Given the description of an element on the screen output the (x, y) to click on. 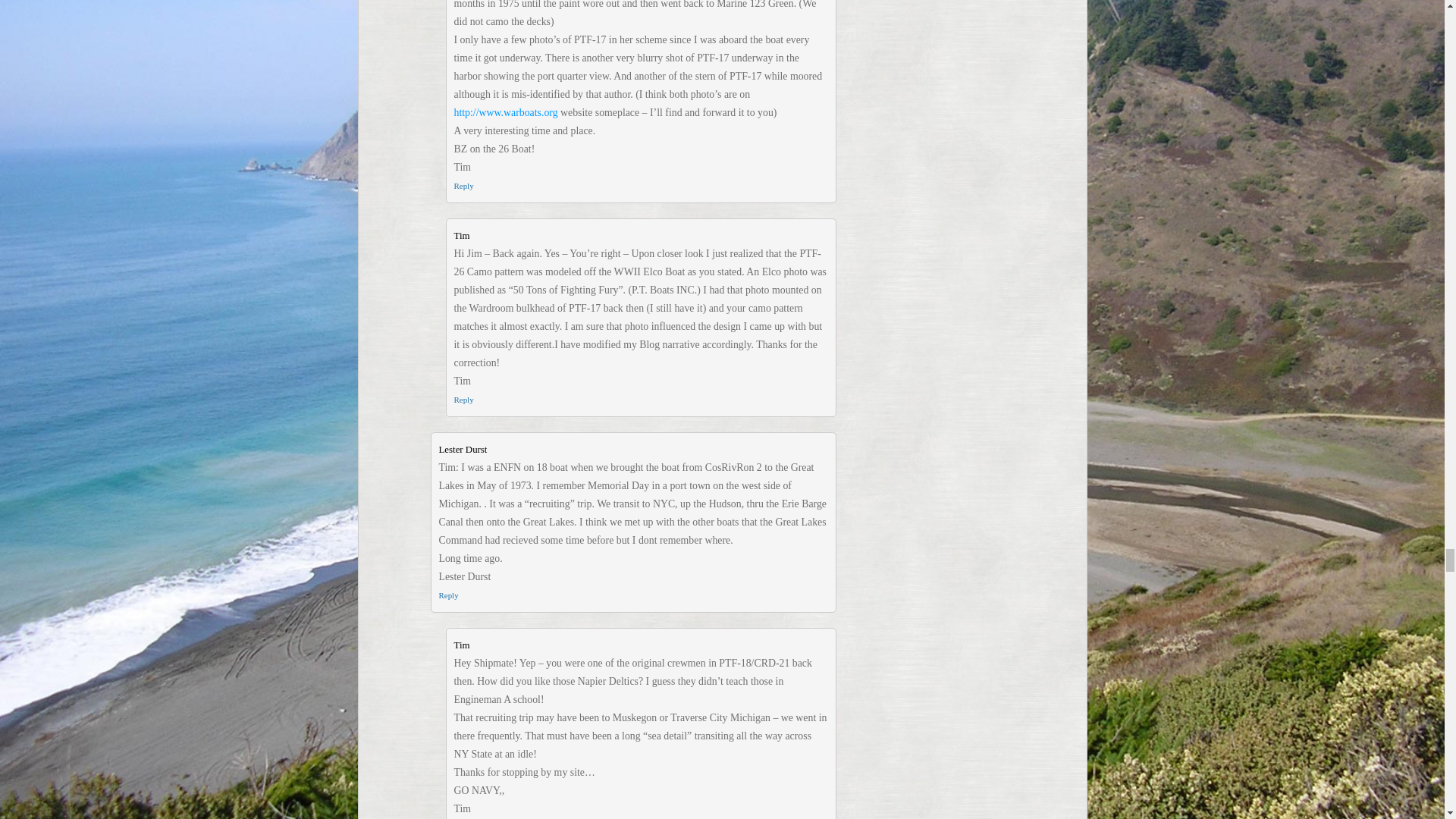
Reply (462, 399)
Reply (448, 594)
Reply (462, 185)
